Given the description of an element on the screen output the (x, y) to click on. 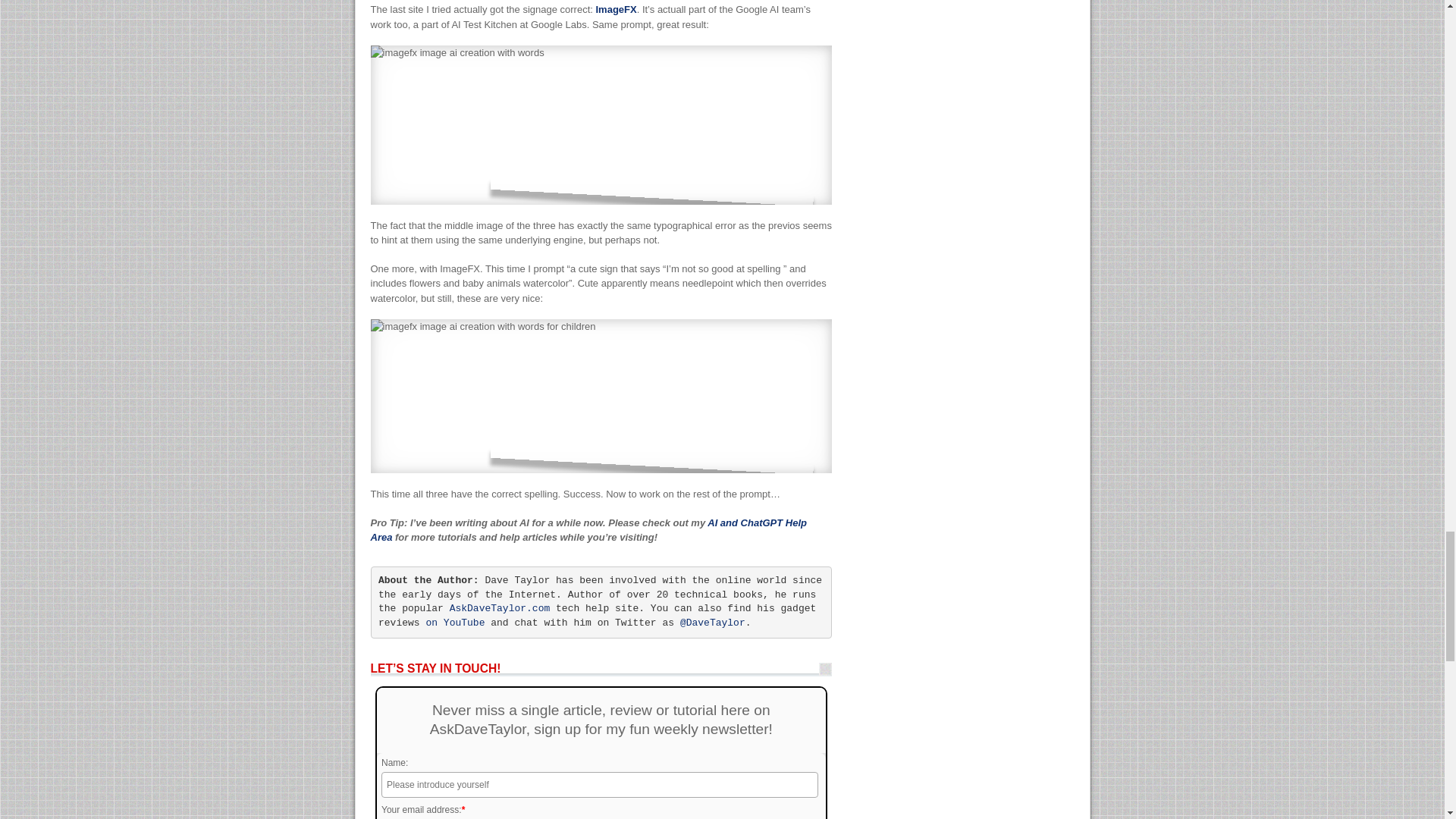
on YouTube (454, 622)
AI and ChatGPT Help Area (587, 529)
Please introduce yourself (599, 784)
AskDaveTaylor.com (499, 608)
ImageFX (615, 9)
